Given the description of an element on the screen output the (x, y) to click on. 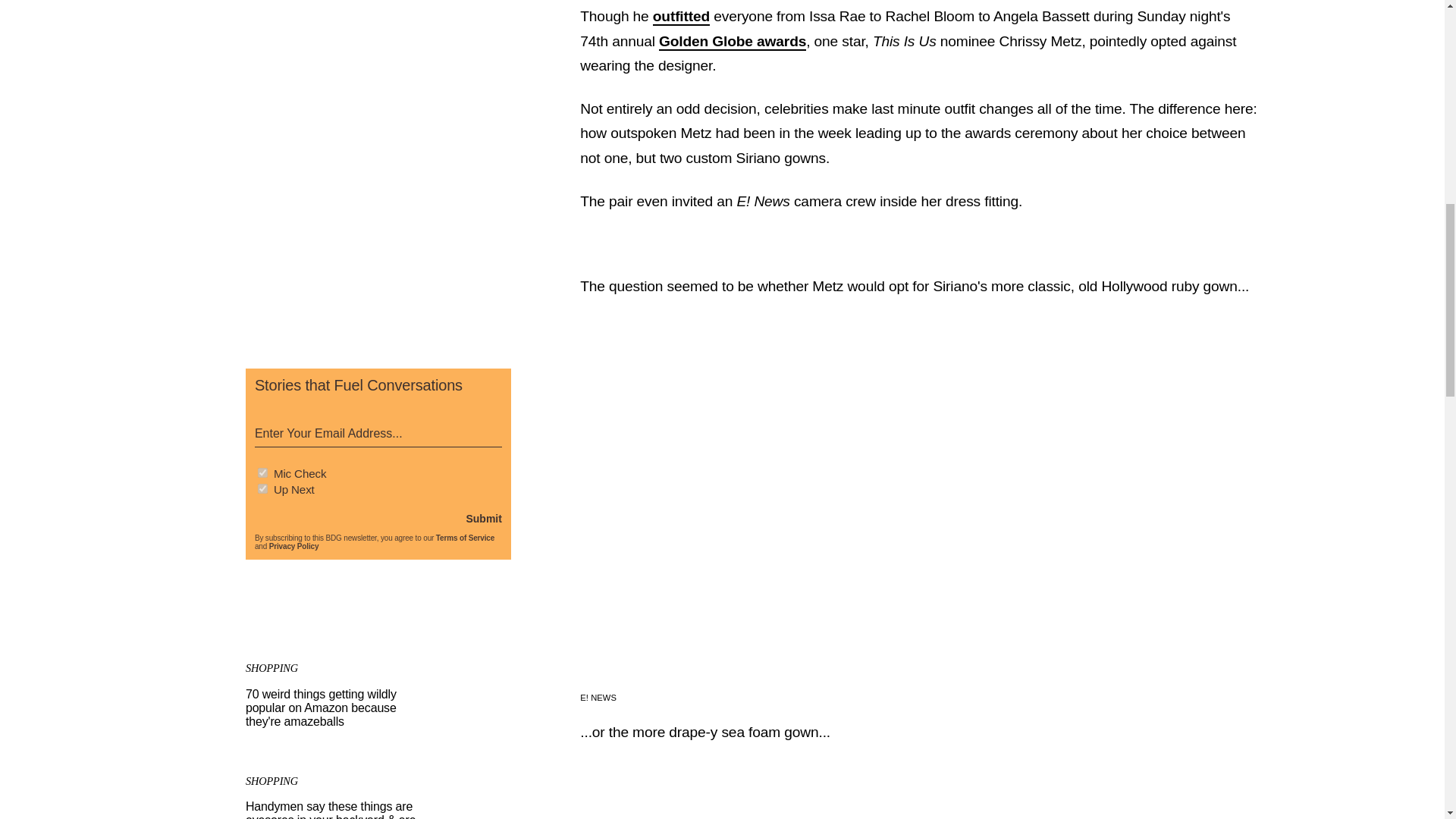
Terms of Service (465, 537)
Privacy Policy (293, 546)
Golden Globe awards (732, 41)
Submit (482, 518)
outfitted (681, 16)
